Given the description of an element on the screen output the (x, y) to click on. 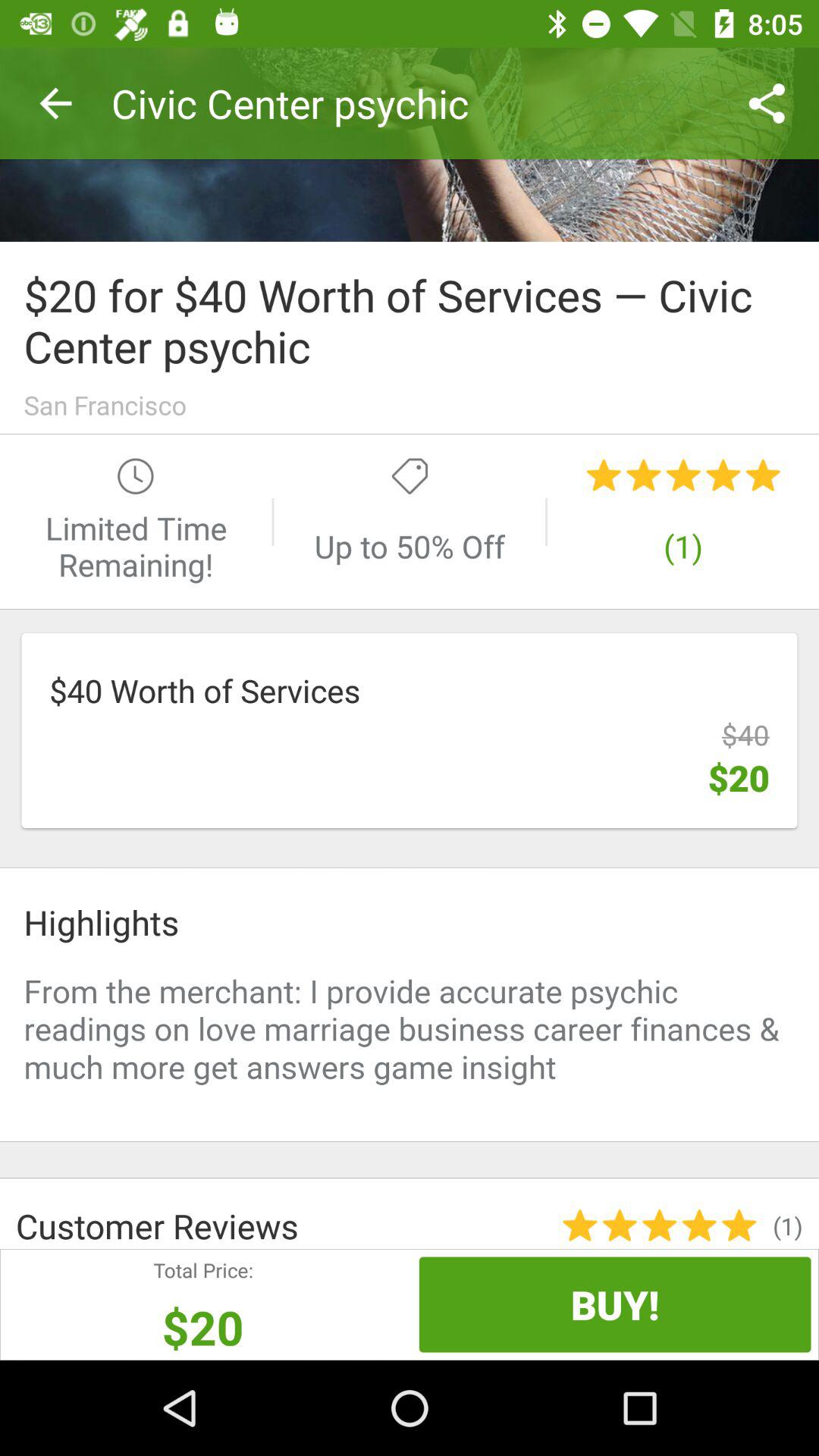
go back (409, 144)
